Given the description of an element on the screen output the (x, y) to click on. 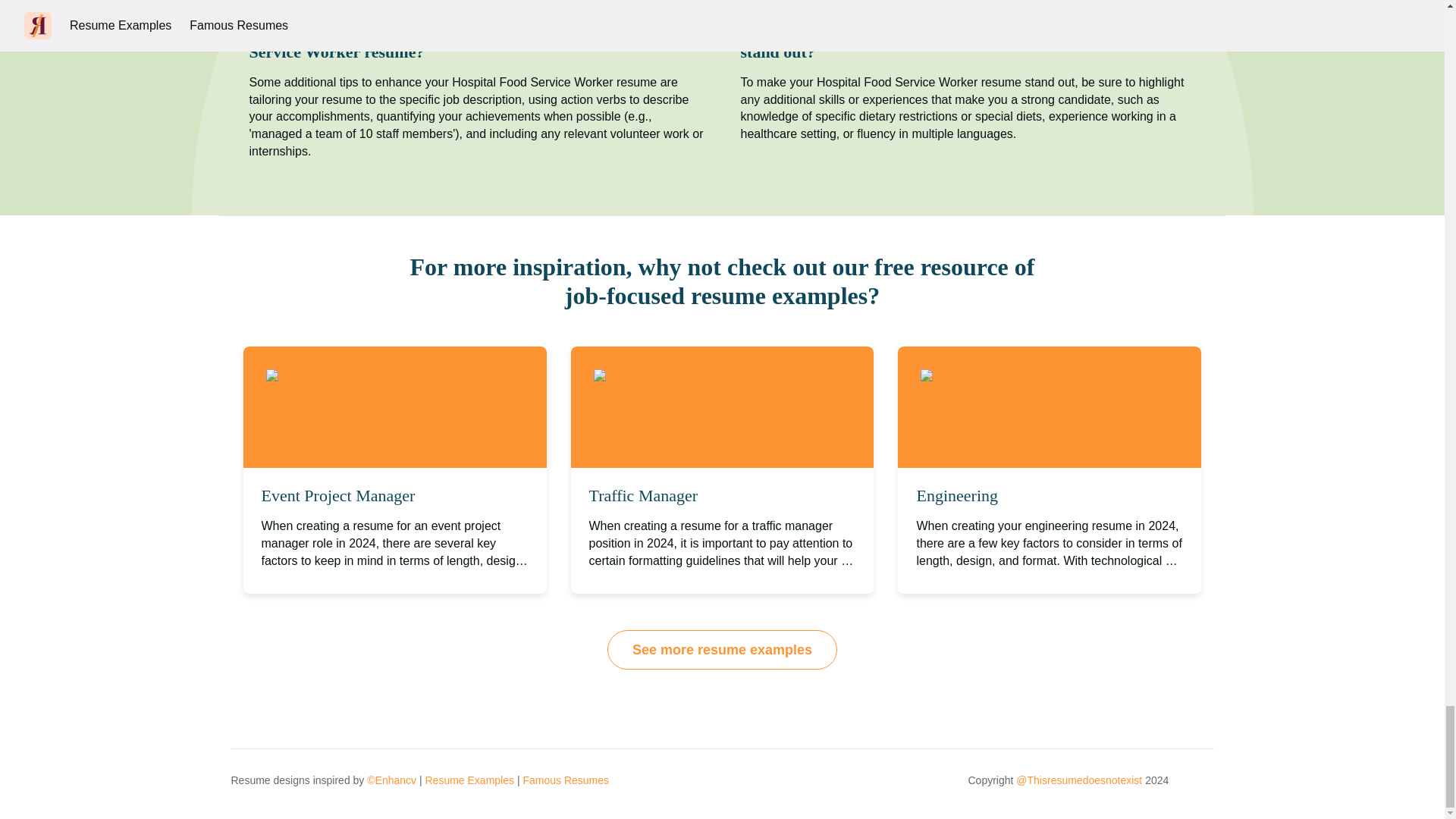
Engineering's resume (995, 376)
Traffic Manager's resume (676, 376)
Famous Resumes (565, 779)
Event Project Manager's resume (366, 376)
Resume Examples (469, 779)
See more resume examples (722, 649)
